Given the description of an element on the screen output the (x, y) to click on. 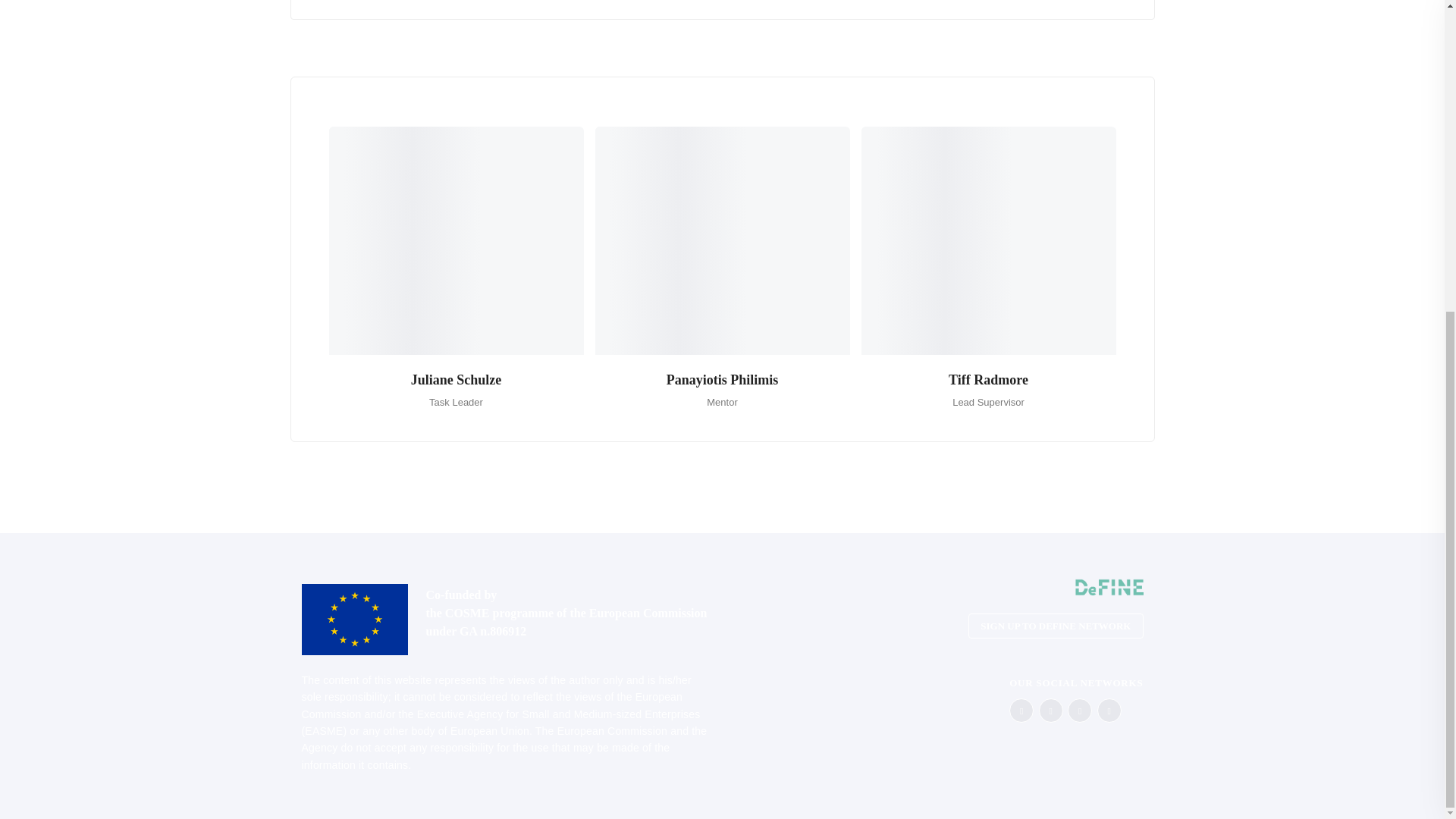
Juliane Schulze (456, 379)
Panayiotis Philimis (722, 379)
Tiff Radmore (988, 379)
